Given the description of an element on the screen output the (x, y) to click on. 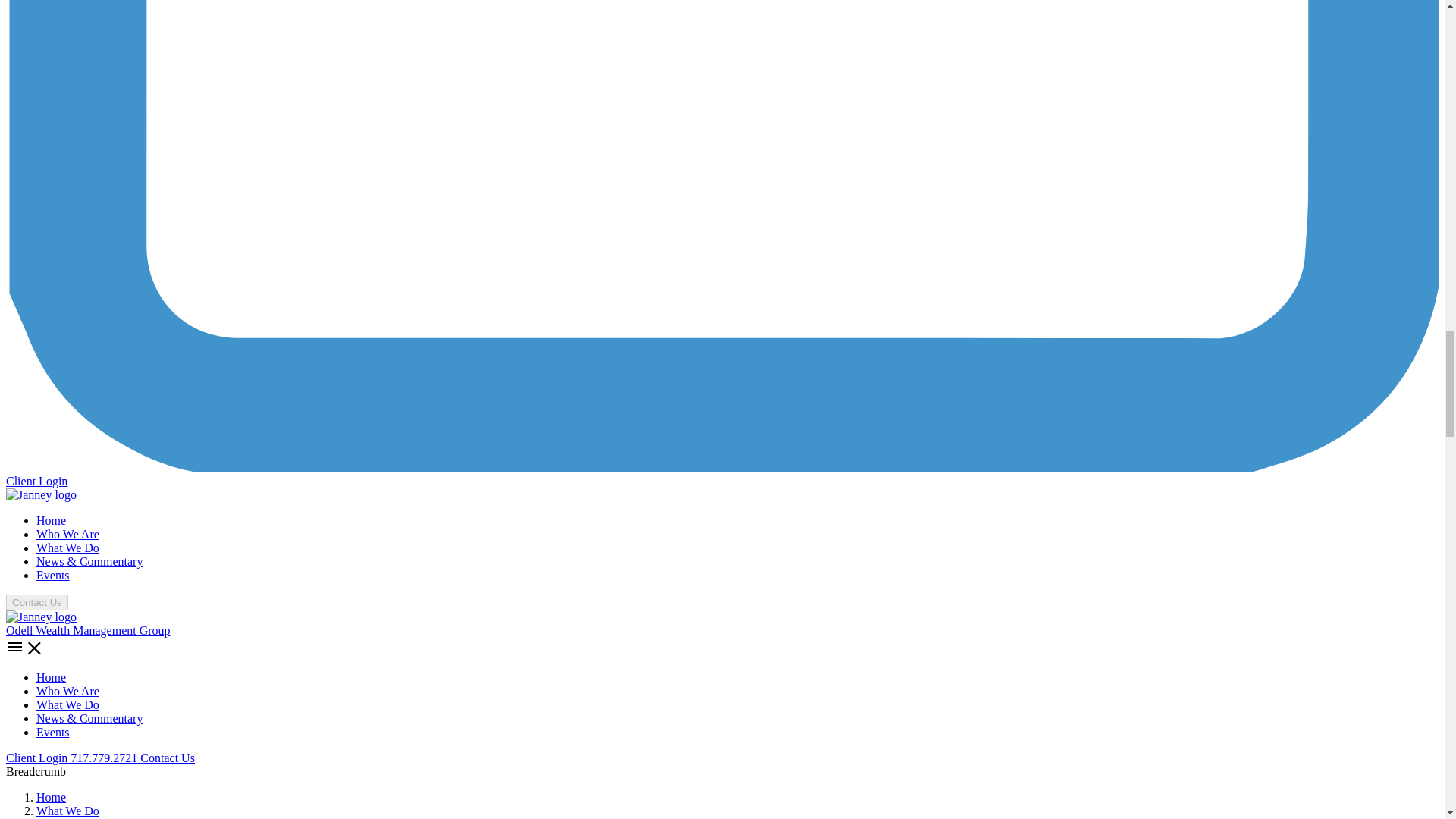
What We Do (67, 810)
What We Do (67, 547)
Home (50, 520)
janney-header-logo (41, 617)
Home (50, 797)
Client Login (37, 757)
Events (52, 574)
janney-header-logo (41, 495)
Contact Us (167, 757)
Who We Are (67, 533)
What We Do (67, 704)
Contact Us (36, 602)
Contact Us (36, 601)
Events (52, 731)
717.779.2721 (104, 757)
